Given the description of an element on the screen output the (x, y) to click on. 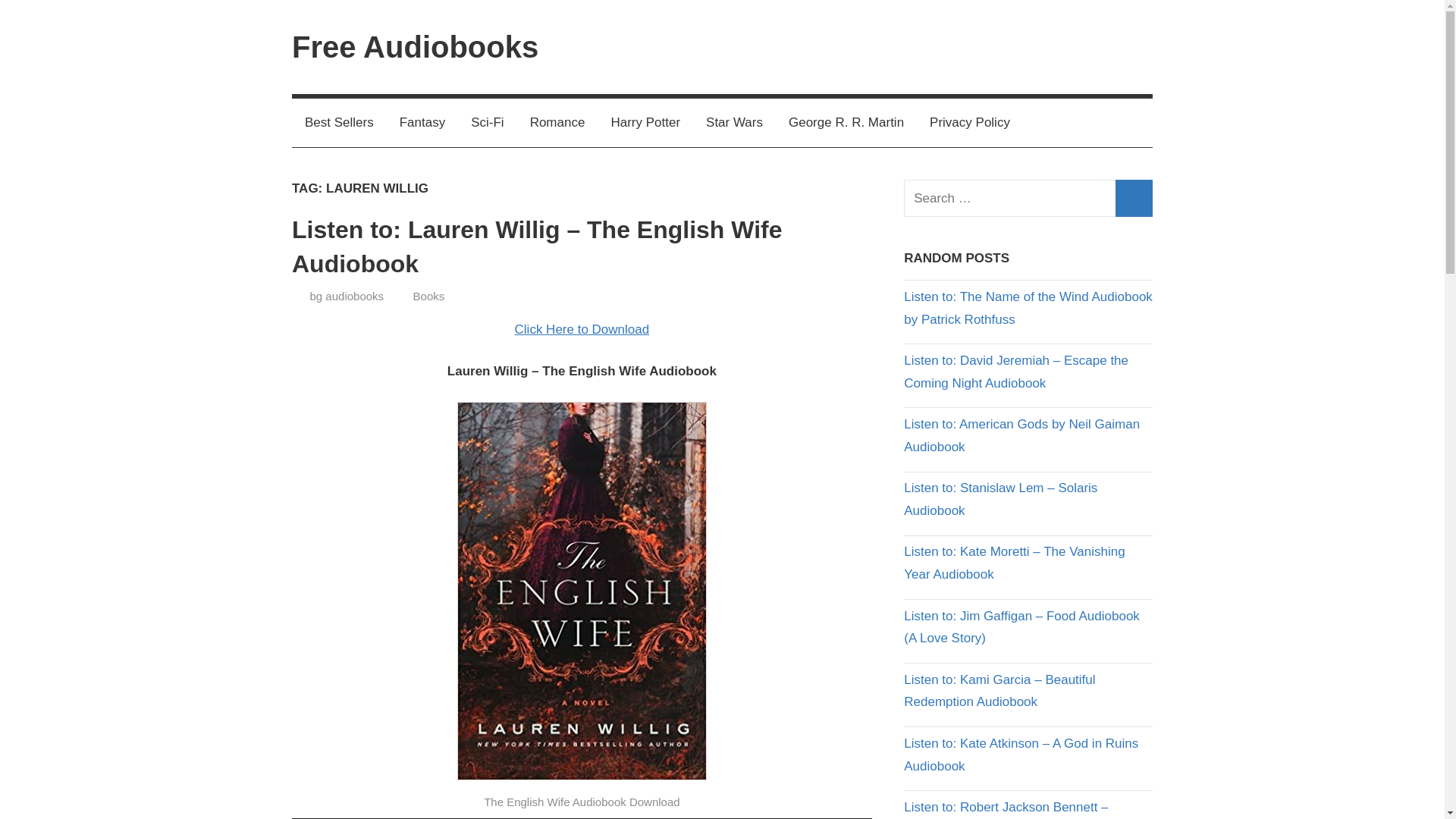
Harry Potter (644, 122)
Books (429, 295)
Click Here to Download (582, 329)
Romance (557, 122)
Sci-Fi (487, 122)
Best Sellers (339, 122)
George R. R. Martin (846, 122)
Free Audiobooks (415, 46)
Privacy Policy (970, 122)
Fantasy (422, 122)
Star Wars (734, 122)
View all posts by bg audiobooks (346, 295)
bg audiobooks (346, 295)
